Given the description of an element on the screen output the (x, y) to click on. 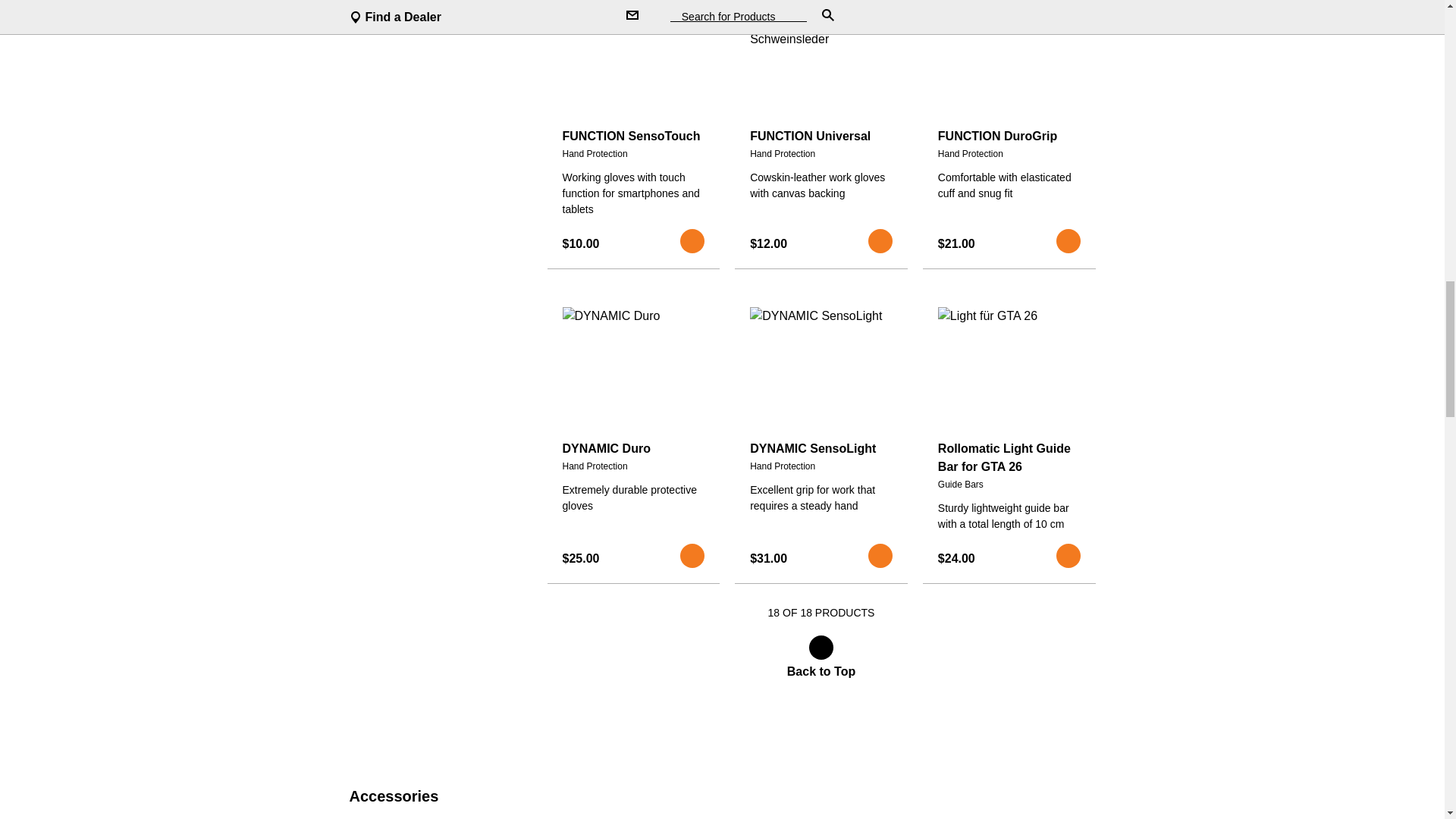
FUNCTION Universal (820, 136)
FUNCTION DuroGrip (1008, 136)
DYNAMIC Duro (633, 448)
FUNCTION SensoTouch (633, 136)
DYNAMIC SensoLight (820, 448)
Rollomatic Light Guide Bar for GTA 26 (1008, 457)
